Given the description of an element on the screen output the (x, y) to click on. 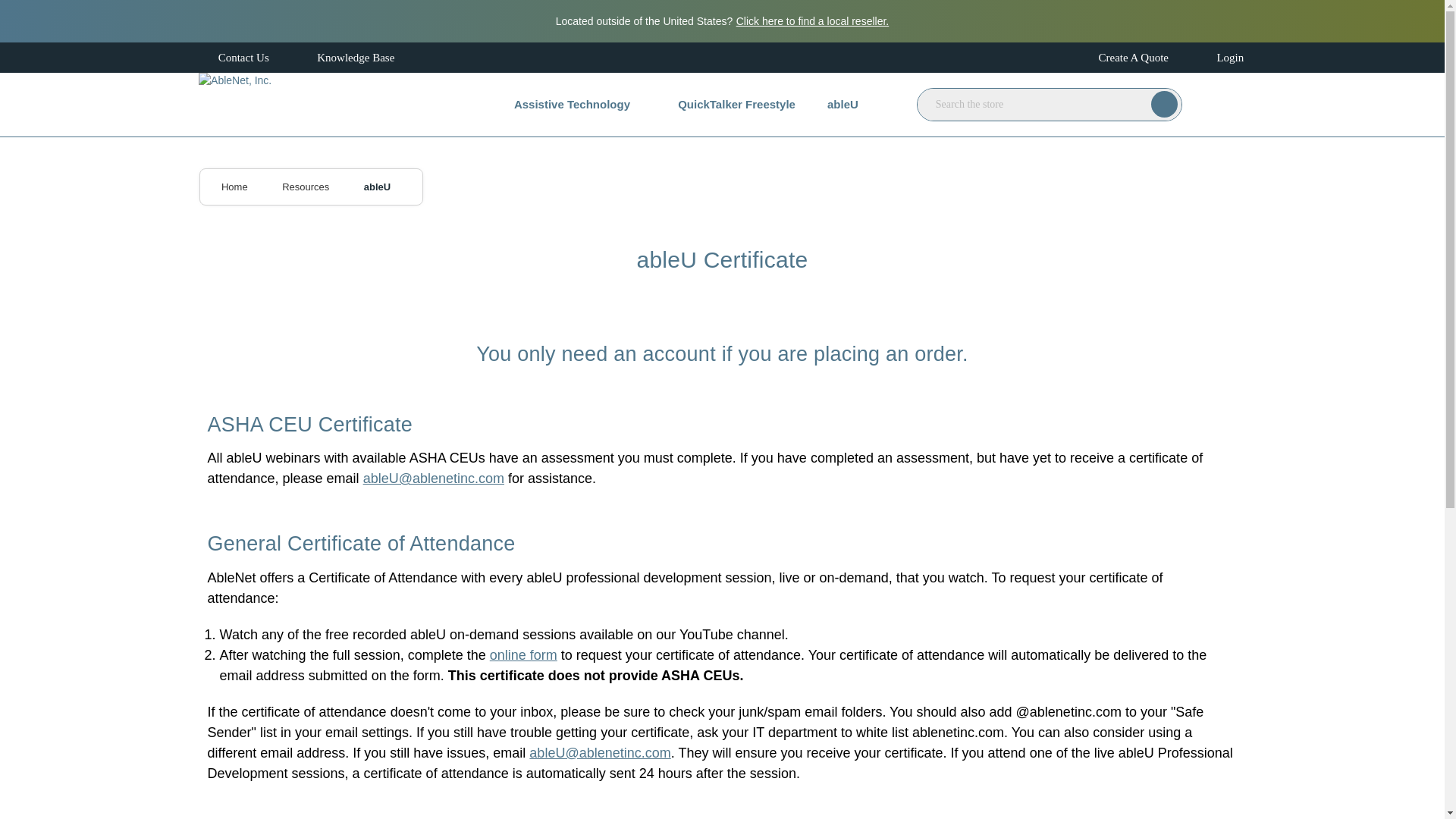
Resources (305, 186)
Login (1218, 57)
Create A Quote (1121, 57)
QuickTalker Freestyle (736, 104)
AbleNet, Inc. (234, 104)
Contact Us (232, 57)
Home (234, 186)
Knowledge Base (344, 57)
Assistive Technology (579, 104)
ableU (377, 186)
